Given the description of an element on the screen output the (x, y) to click on. 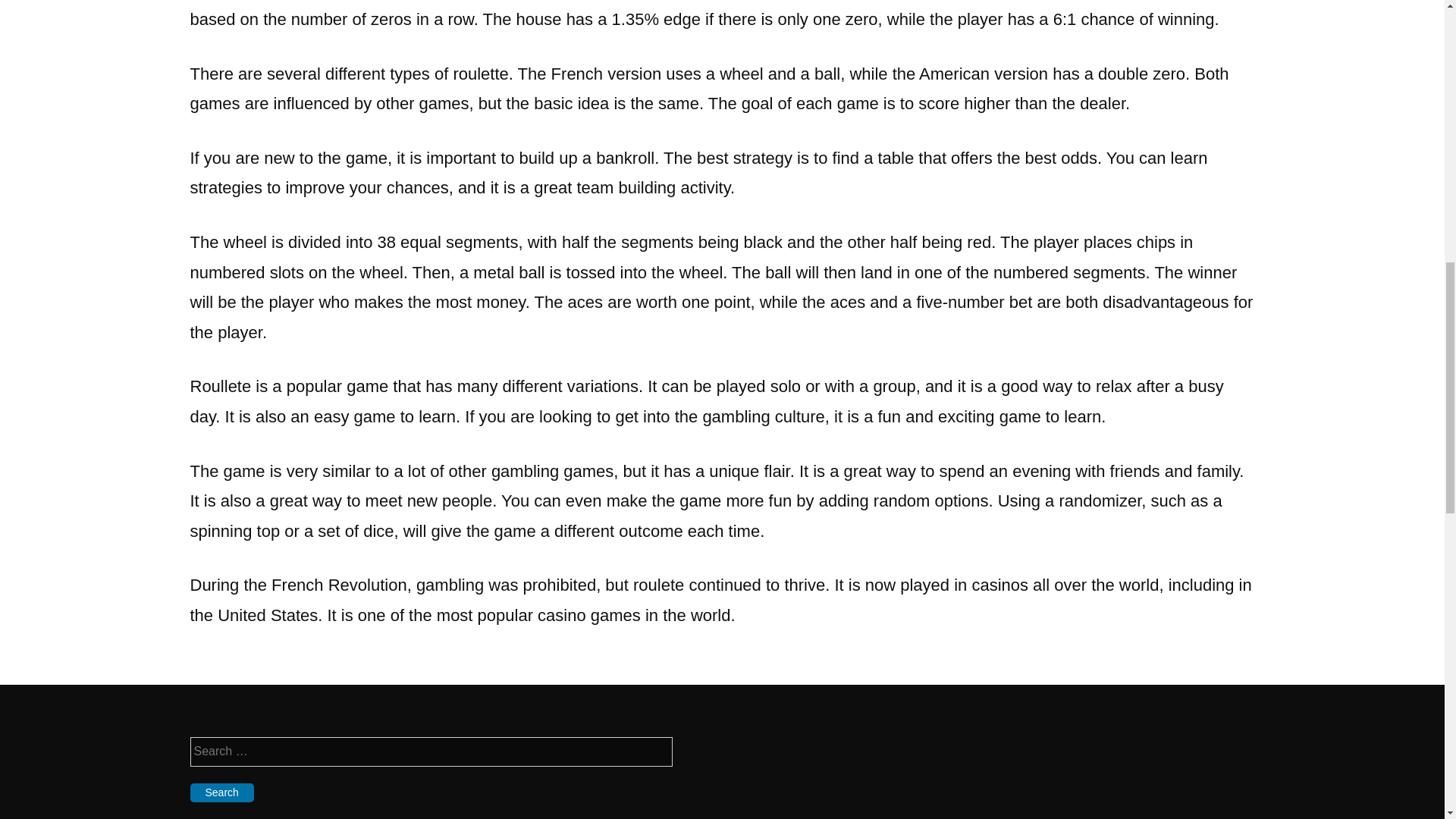
Search (221, 792)
Search (221, 792)
Search (221, 792)
